Given the description of an element on the screen output the (x, y) to click on. 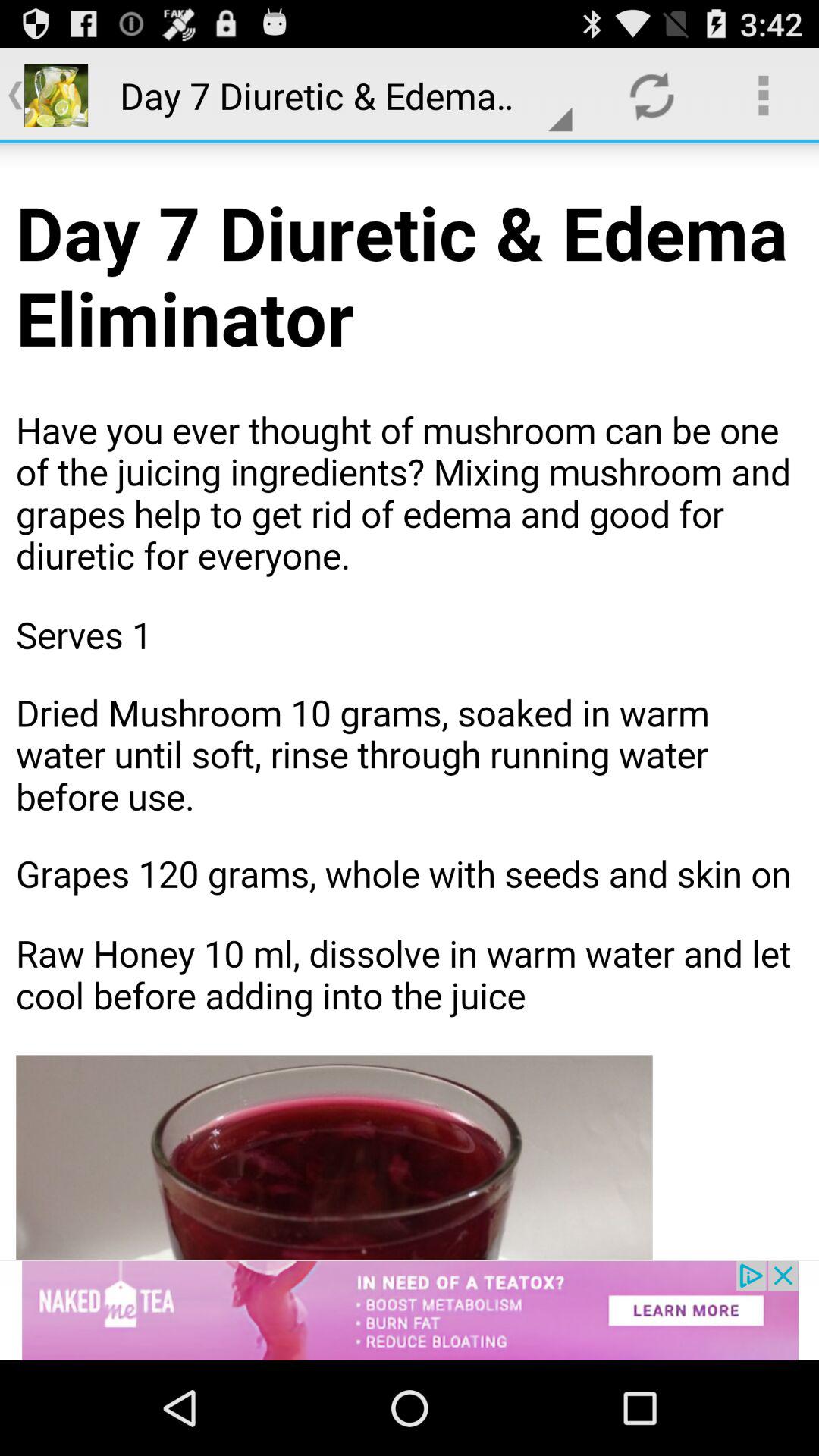
know about the advertisement (409, 1310)
